Given the description of an element on the screen output the (x, y) to click on. 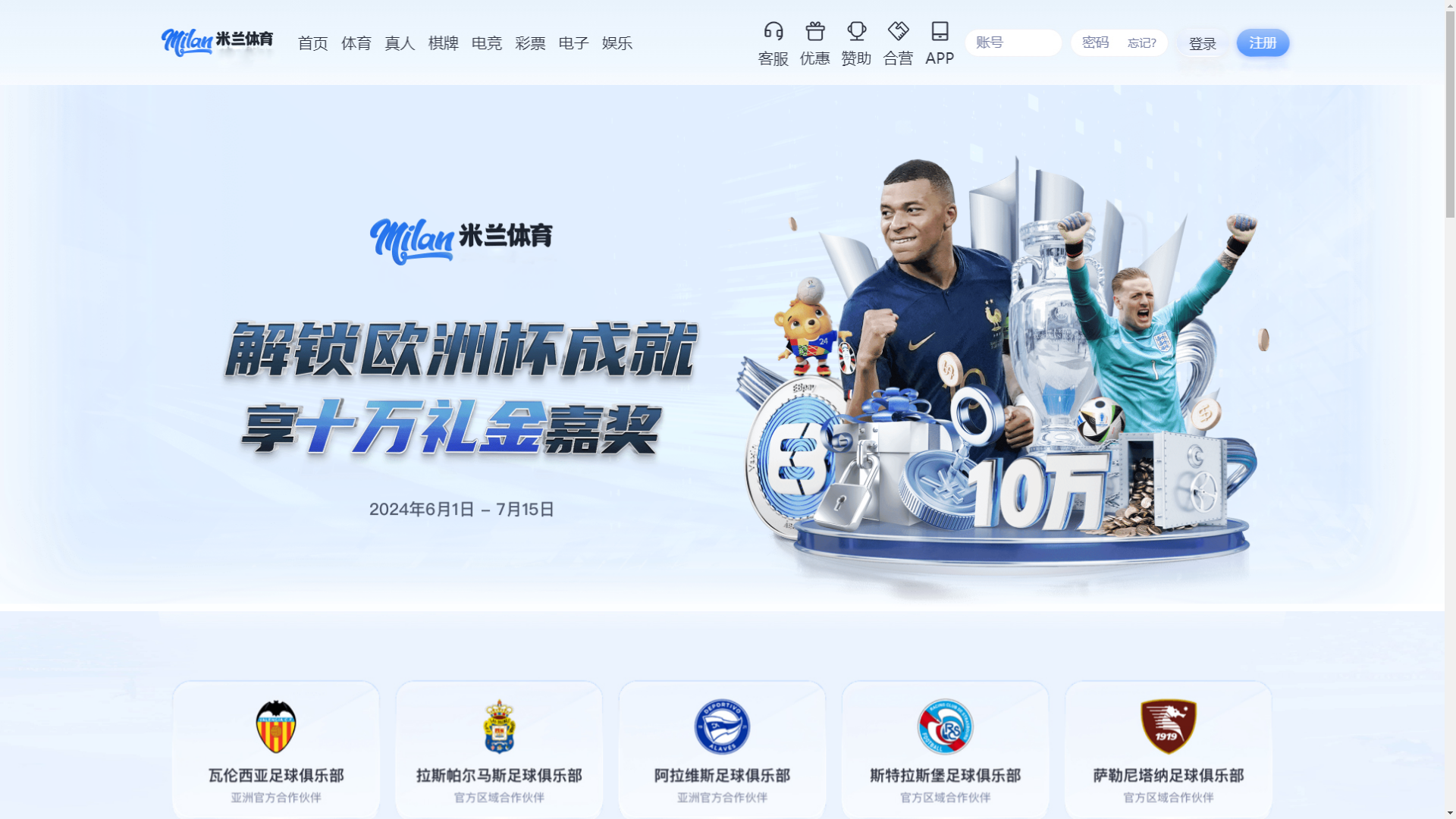
Schedule Demo (1214, 31)
Solutions (1020, 30)
